Given the description of an element on the screen output the (x, y) to click on. 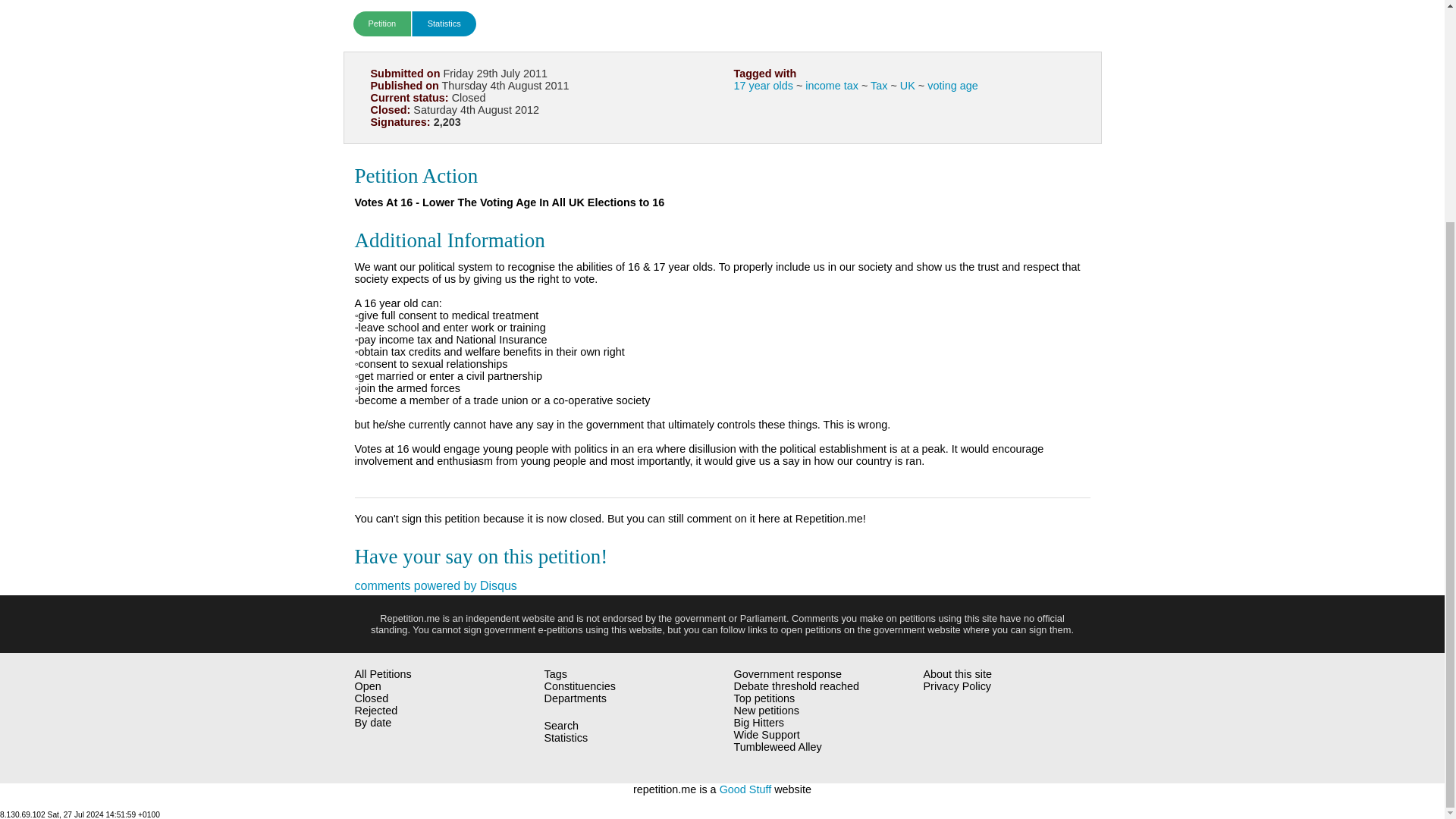
17 year olds (763, 85)
income tax (832, 85)
Statistics (444, 23)
Open (368, 686)
All Petitions (383, 674)
Tags (555, 674)
Tumbleweed Alley (296, 139)
Rejected (376, 710)
Petition (382, 23)
By date (373, 722)
Tax (878, 85)
UK (907, 85)
Closed (371, 698)
Wide Support (296, 105)
Top petitions (296, 10)
